Given the description of an element on the screen output the (x, y) to click on. 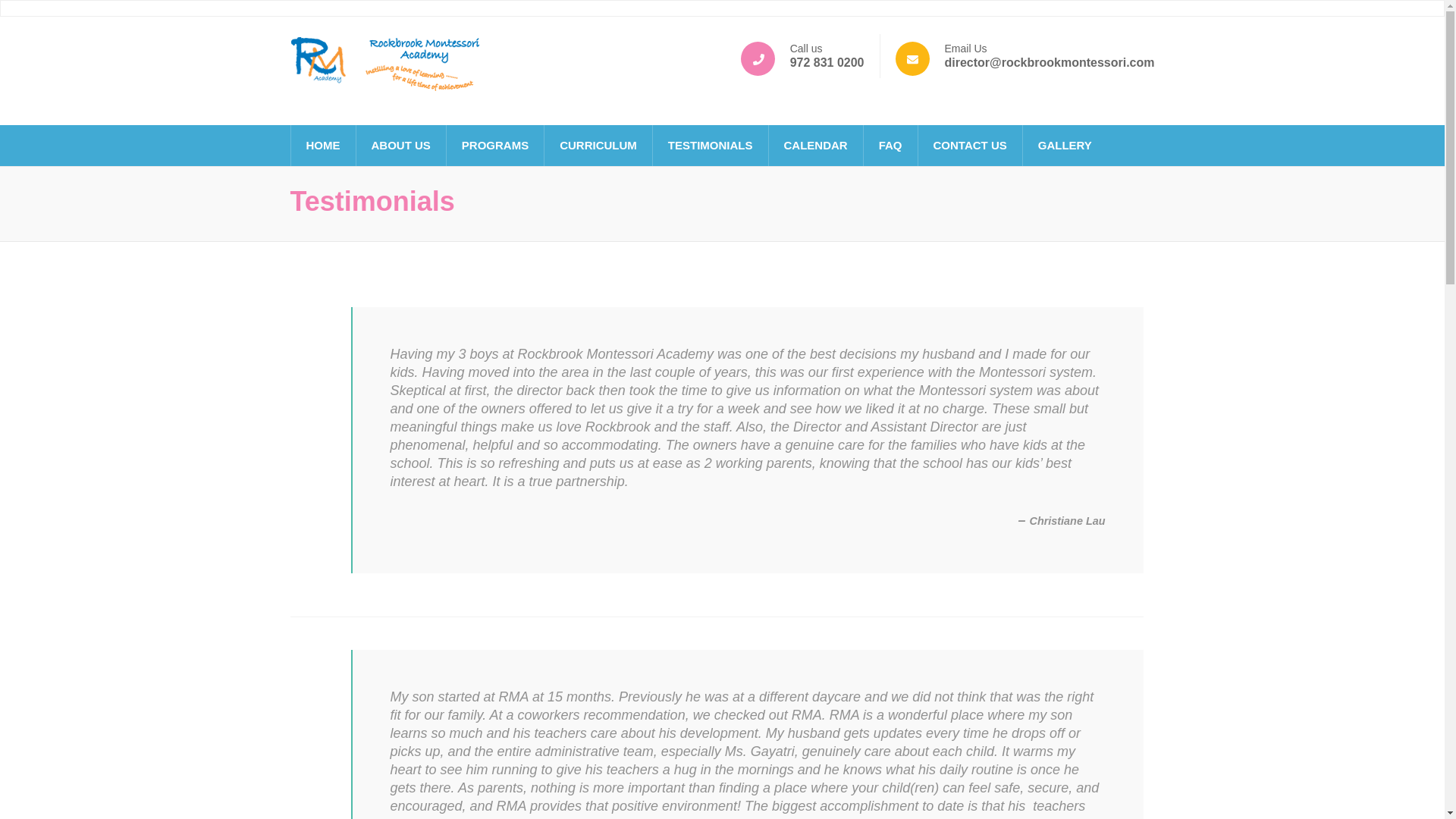
ABOUT US (400, 145)
972 831 0200 (827, 62)
HOME (323, 145)
PROGRAMS (494, 145)
